Given the description of an element on the screen output the (x, y) to click on. 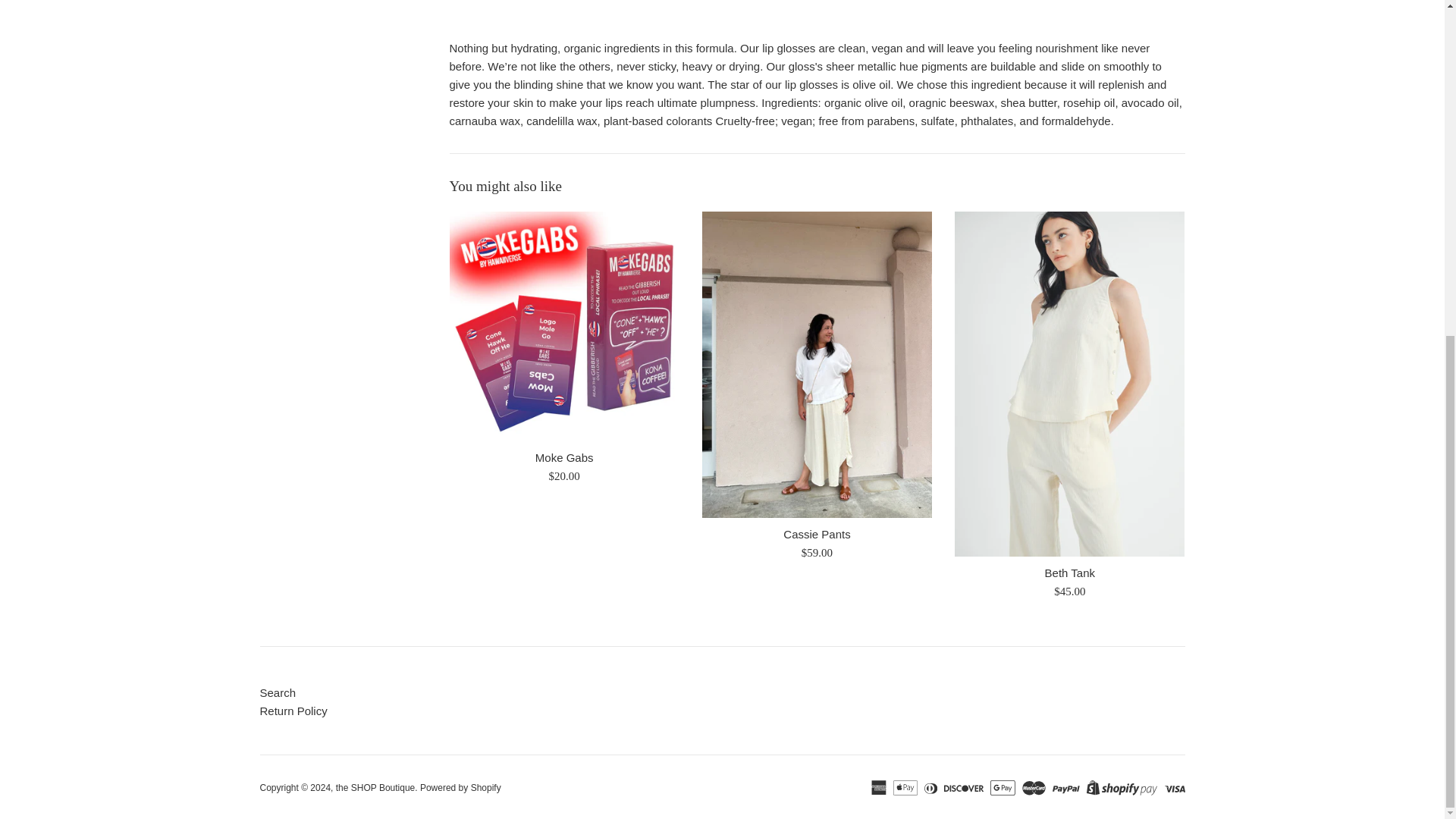
Return Policy (292, 710)
the SHOP Boutique (375, 787)
Powered by Shopify (460, 787)
Moke Gabs (564, 457)
Search (277, 692)
Moke Gabs (563, 326)
Cassie Pants (816, 533)
Beth Tank (1069, 572)
